Given the description of an element on the screen output the (x, y) to click on. 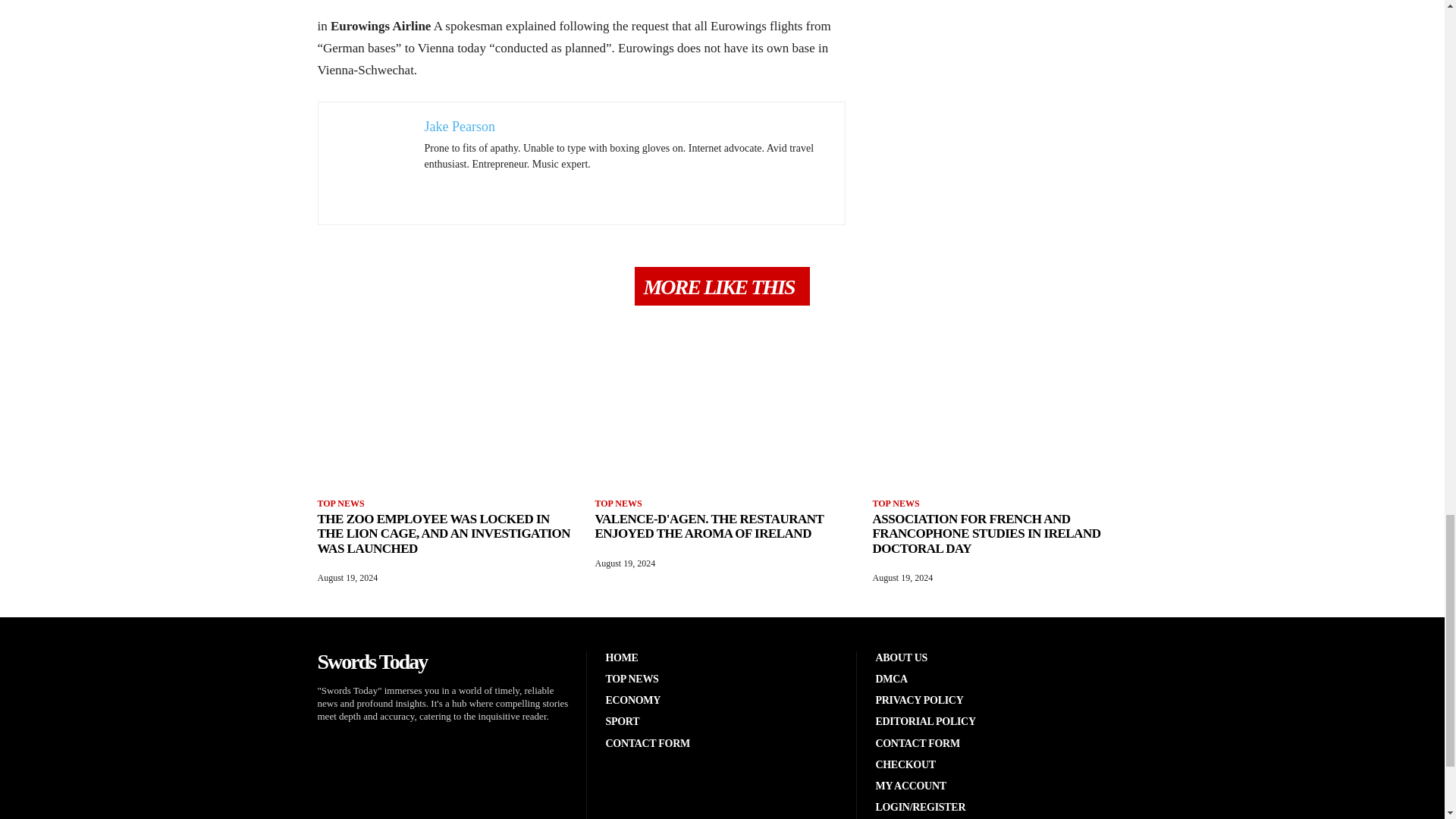
Jake Pearson (460, 126)
